Given the description of an element on the screen output the (x, y) to click on. 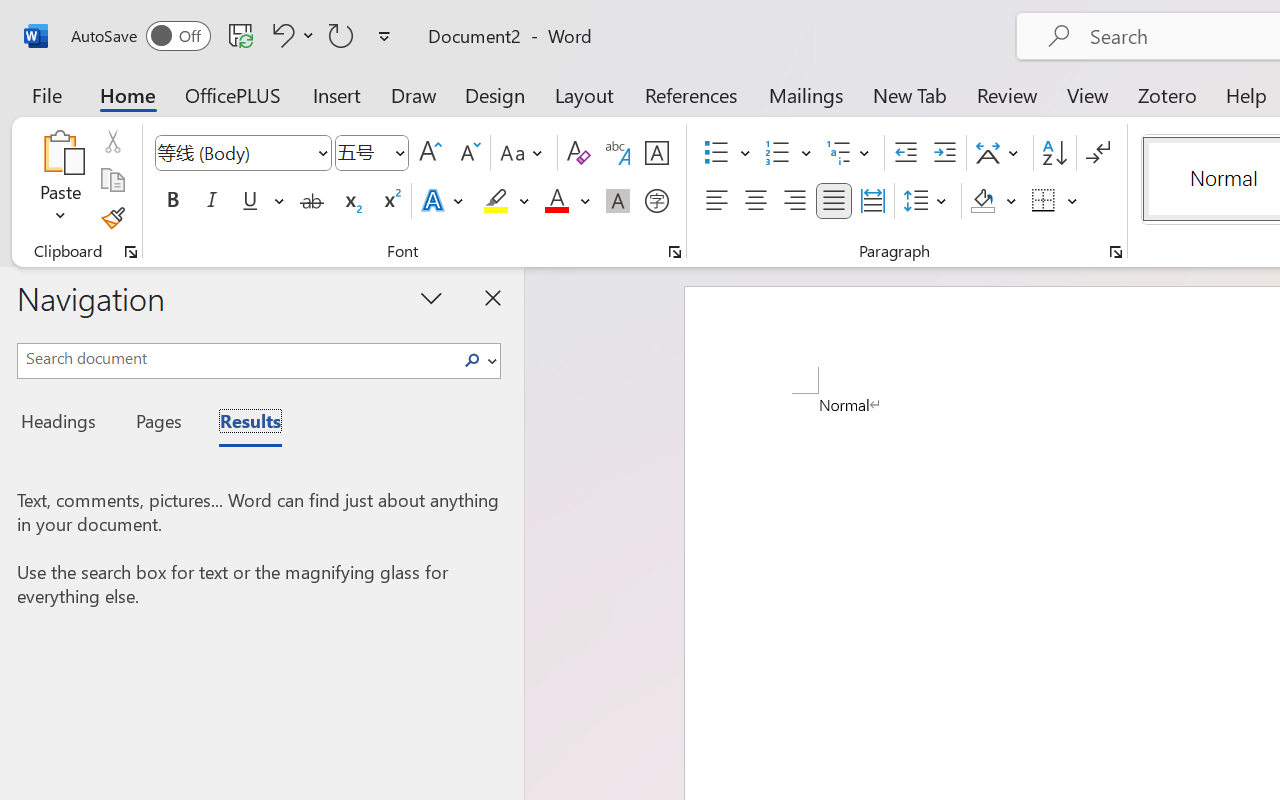
Undo Apply Quick Style (290, 35)
Save (241, 35)
Clear Formatting (578, 153)
Layout (584, 94)
Underline (250, 201)
Numbering (778, 153)
Review (1007, 94)
Increase Indent (944, 153)
Font Color (567, 201)
Font (234, 152)
Text Effects and Typography (444, 201)
Quick Access Toolbar (233, 36)
File Tab (46, 94)
Shading (993, 201)
Home (127, 94)
